Given the description of an element on the screen output the (x, y) to click on. 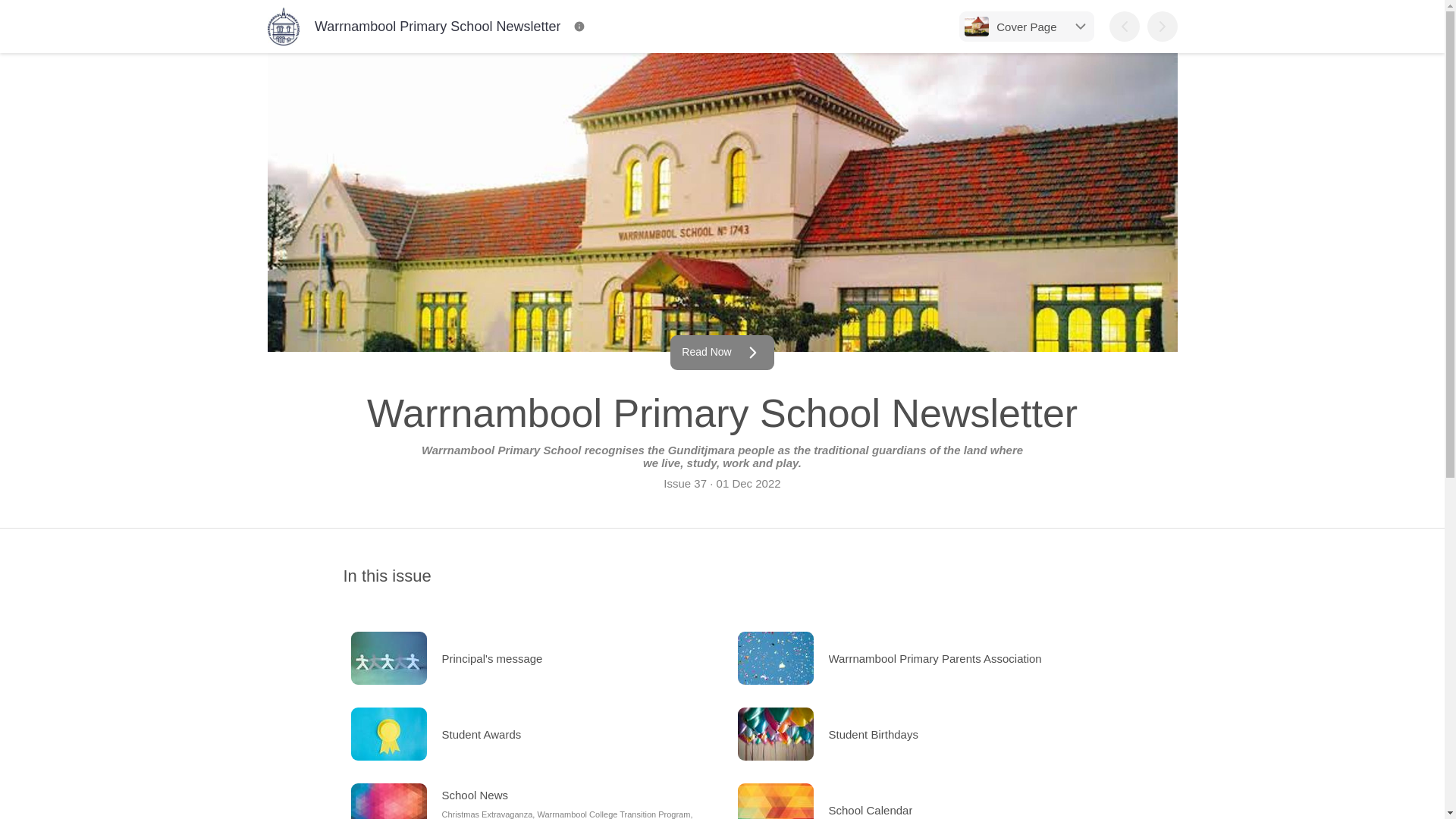
Read Now (721, 352)
Student Birthdays (914, 734)
Warrnambool Primary Parents Association (914, 658)
Student Awards (528, 734)
Warrnambool Primary School Newsletter (413, 26)
Principal's message (528, 658)
School Calendar (914, 797)
Cover Page (1026, 26)
